Given the description of an element on the screen output the (x, y) to click on. 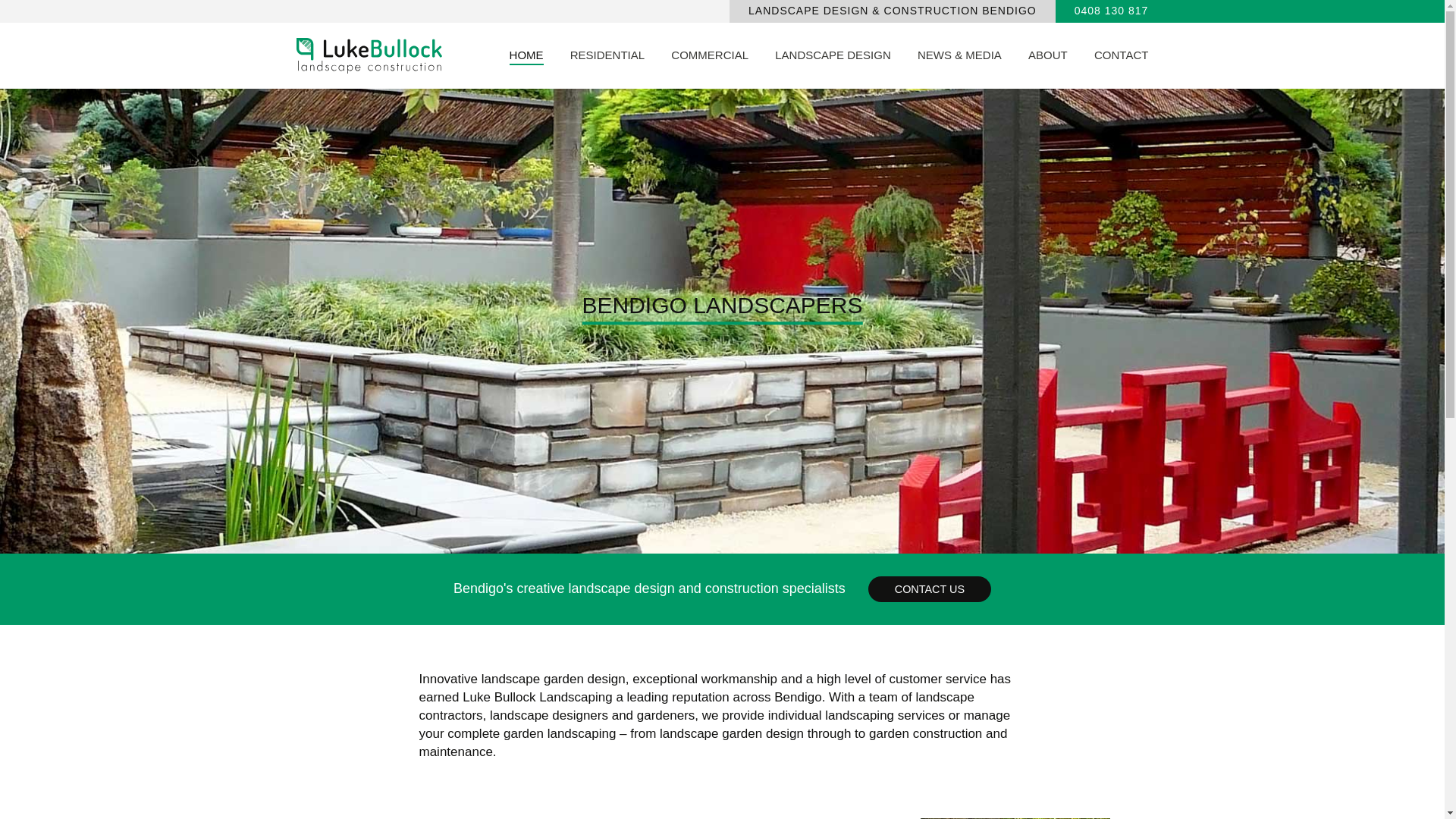
NEWS & MEDIA Element type: text (959, 54)
HOME Element type: text (526, 54)
COMMERCIAL Element type: text (709, 54)
RESIDENTIAL Element type: text (607, 54)
LANDSCAPE DESIGN Element type: text (833, 54)
CONTACT US Element type: text (929, 589)
CONTACT Element type: text (1121, 54)
ABOUT Element type: text (1047, 54)
